Given the description of an element on the screen output the (x, y) to click on. 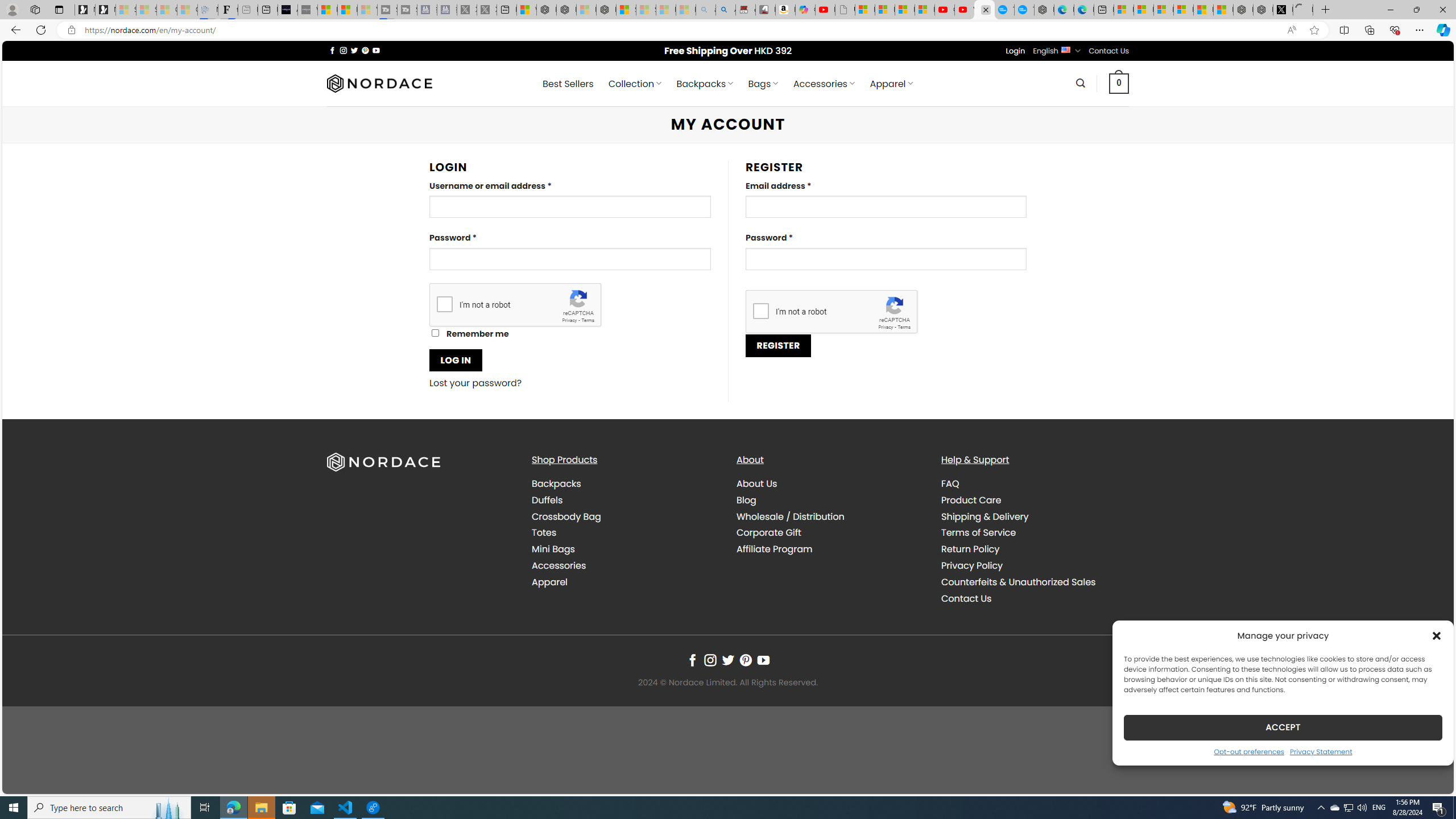
Privacy (885, 326)
LOG IN (455, 359)
Opt-out preferences (1249, 750)
Terms (903, 326)
Duffels (625, 499)
Copilot (804, 9)
Affiliate Program (830, 549)
Terms of Service (978, 532)
